Given the description of an element on the screen output the (x, y) to click on. 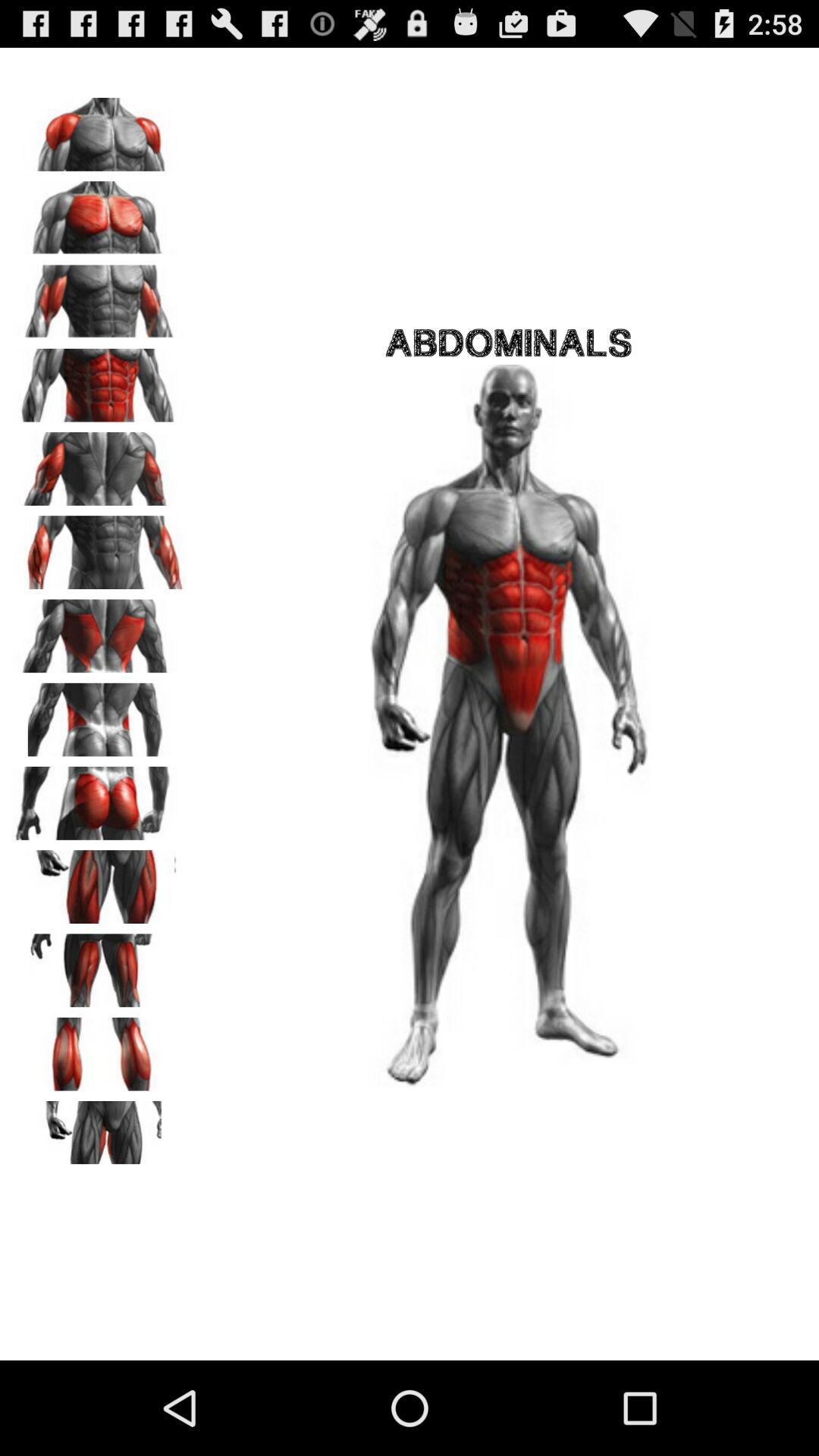
select new muscle group (99, 965)
